Given the description of an element on the screen output the (x, y) to click on. 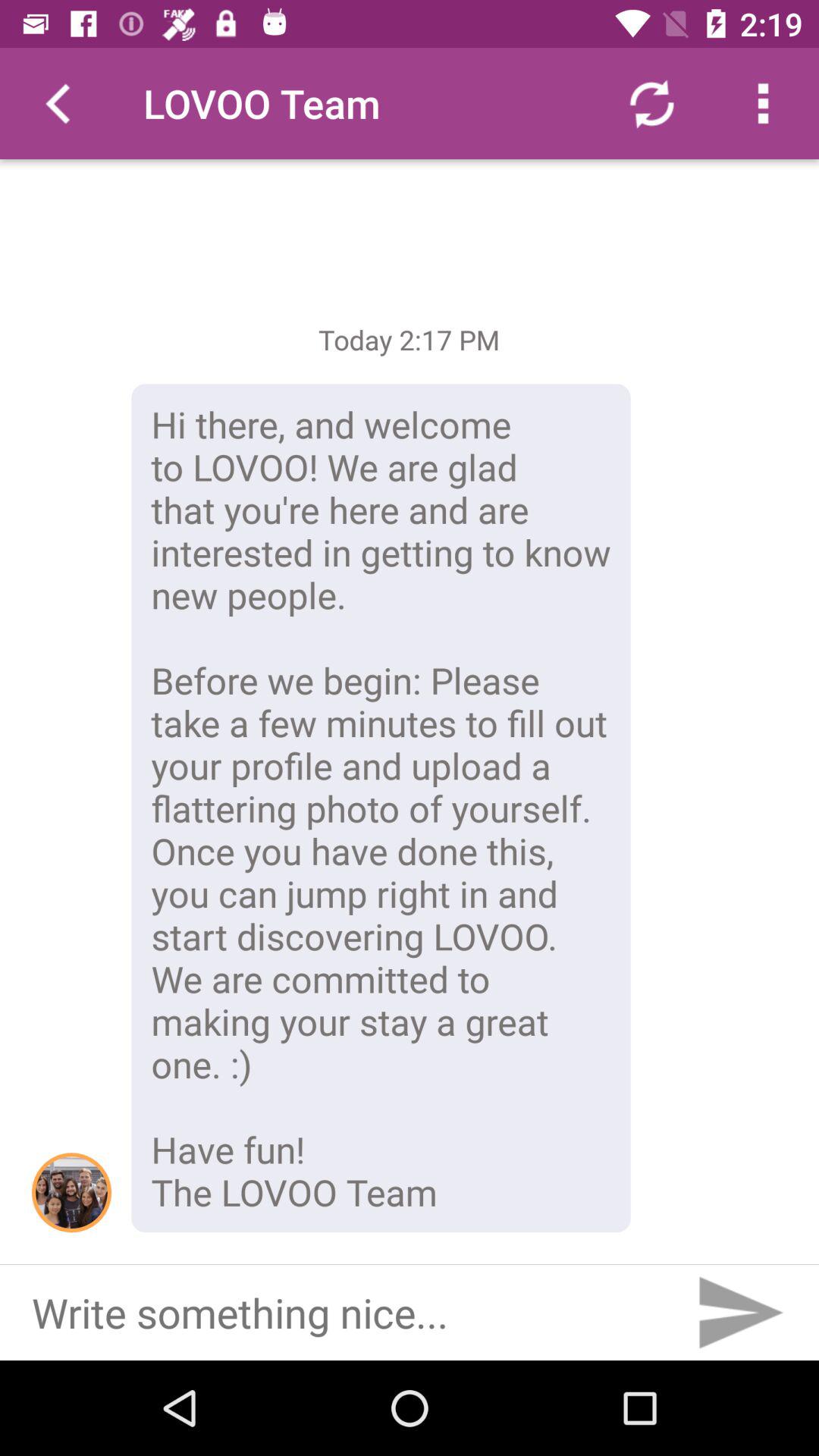
post comment (739, 1312)
